Given the description of an element on the screen output the (x, y) to click on. 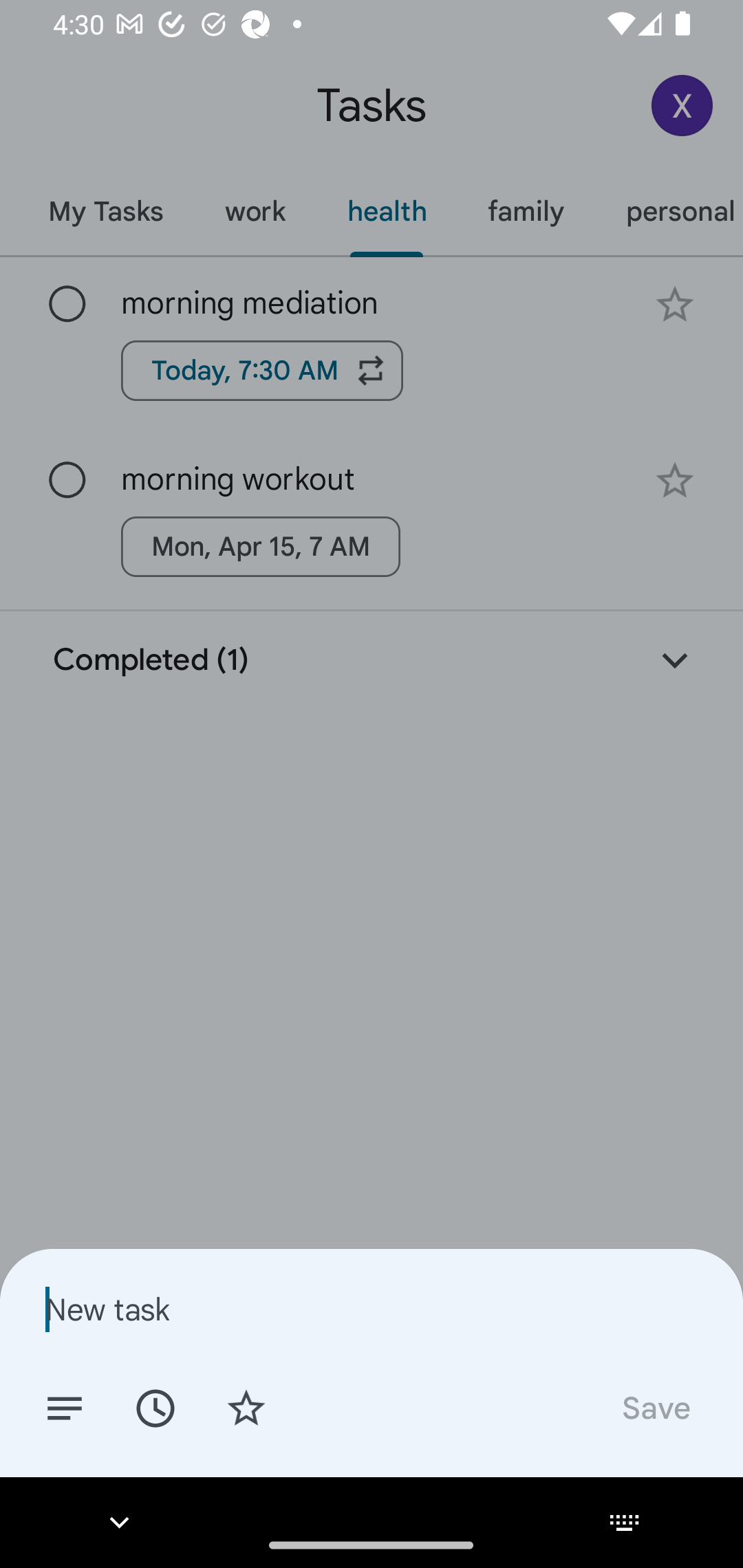
New task (371, 1308)
Save (655, 1407)
Add details (64, 1407)
Set date/time (154, 1407)
Add star (245, 1407)
